Given the description of an element on the screen output the (x, y) to click on. 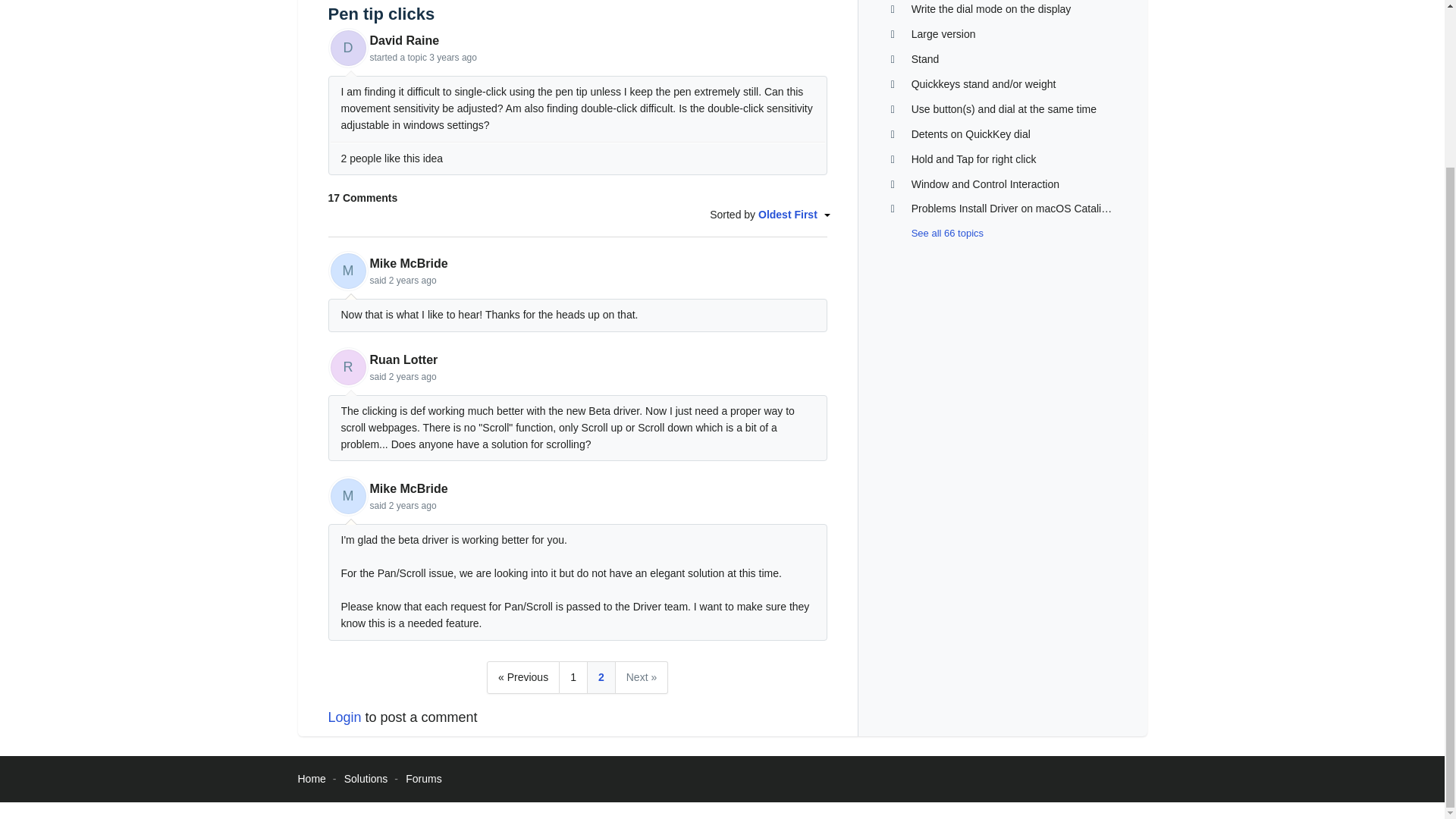
Window and Control Interaction (985, 184)
See all 66 topics (936, 233)
Oldest First (792, 214)
Login (344, 717)
Home (310, 778)
Tue, Aug 23, 2022 at  6:28 AM (412, 376)
Hold and Tap for right click (973, 159)
Detents on QuickKey dial (970, 133)
Mon, Aug 22, 2022 at  6:42 PM (412, 280)
Write the dial mode on the display (991, 9)
Stand (925, 59)
Fri, May 28, 2021 at  6:54 PM (453, 57)
Large version (943, 33)
Tue, Aug 23, 2022 at 11:58 AM (412, 505)
See all 66 topics (936, 233)
